Given the description of an element on the screen output the (x, y) to click on. 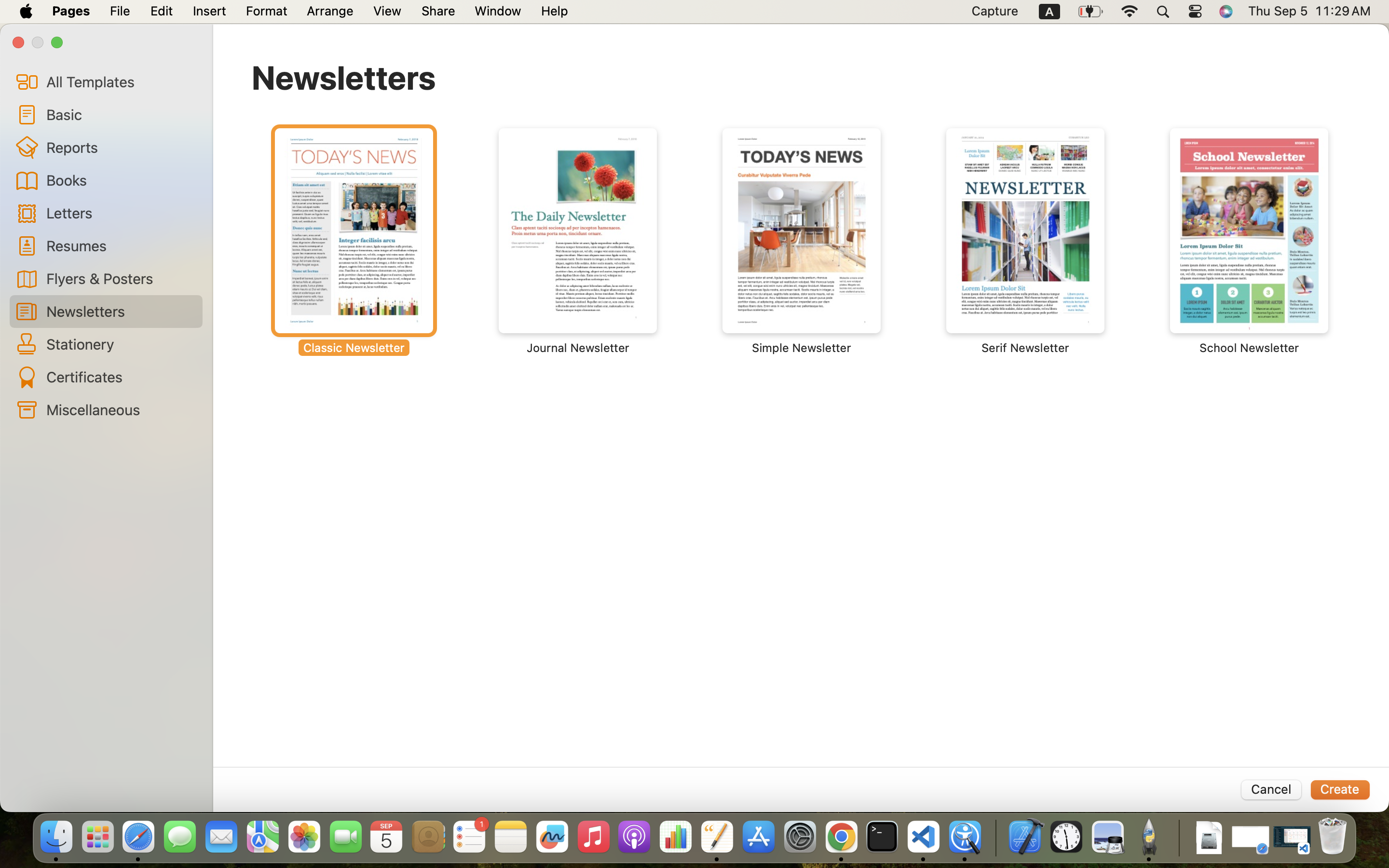
‎⁨Journal Newsletter⁩ Element type: AXButton (577, 241)
Newsletters Element type: AXStaticText (343, 76)
